Given the description of an element on the screen output the (x, y) to click on. 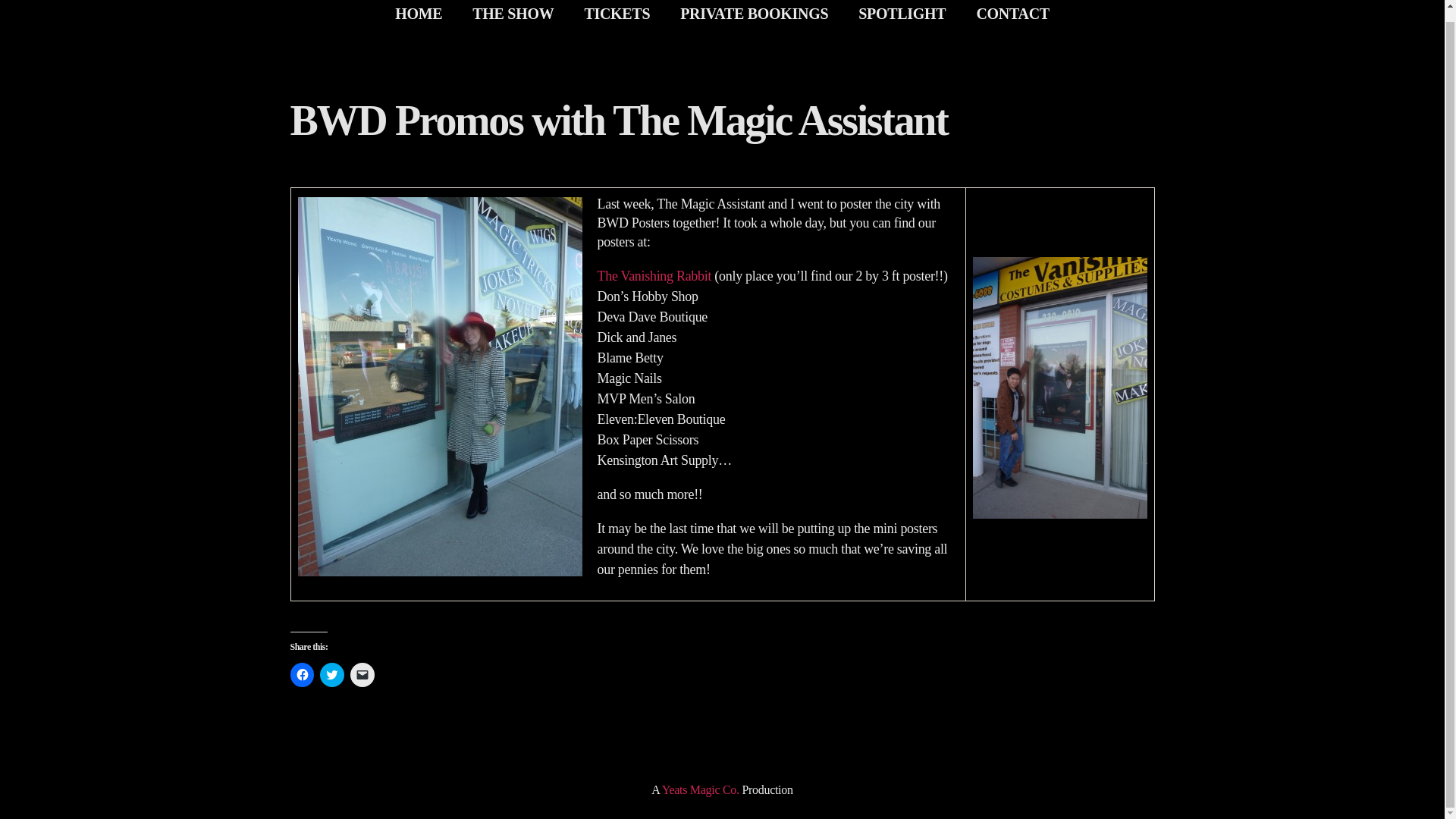
Click to share on Facebook (301, 674)
CONTACT (1012, 15)
HOME (418, 15)
Click to email a link to a friend (362, 674)
TICKETS (617, 15)
THE SHOW (513, 15)
The Vanishing Rabbit (653, 275)
PRIVATE BOOKINGS (754, 15)
SPOTLIGHT (901, 15)
The Vanishing Rabbit (653, 275)
Yeats Magic Co. (700, 789)
Click to share on Twitter (331, 674)
